Given the description of an element on the screen output the (x, y) to click on. 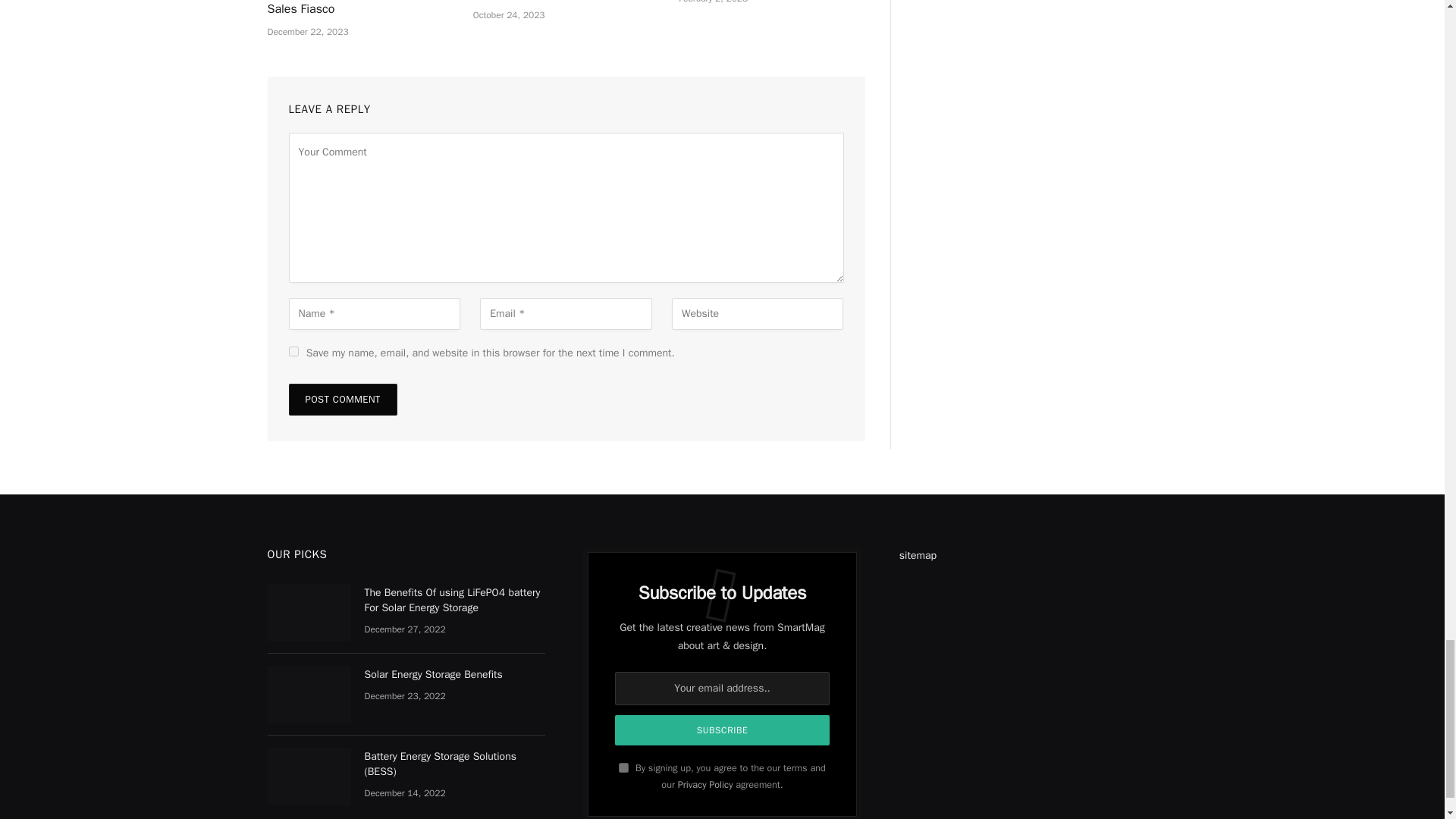
yes (293, 351)
on (623, 767)
Subscribe (721, 729)
Post Comment (342, 399)
